Given the description of an element on the screen output the (x, y) to click on. 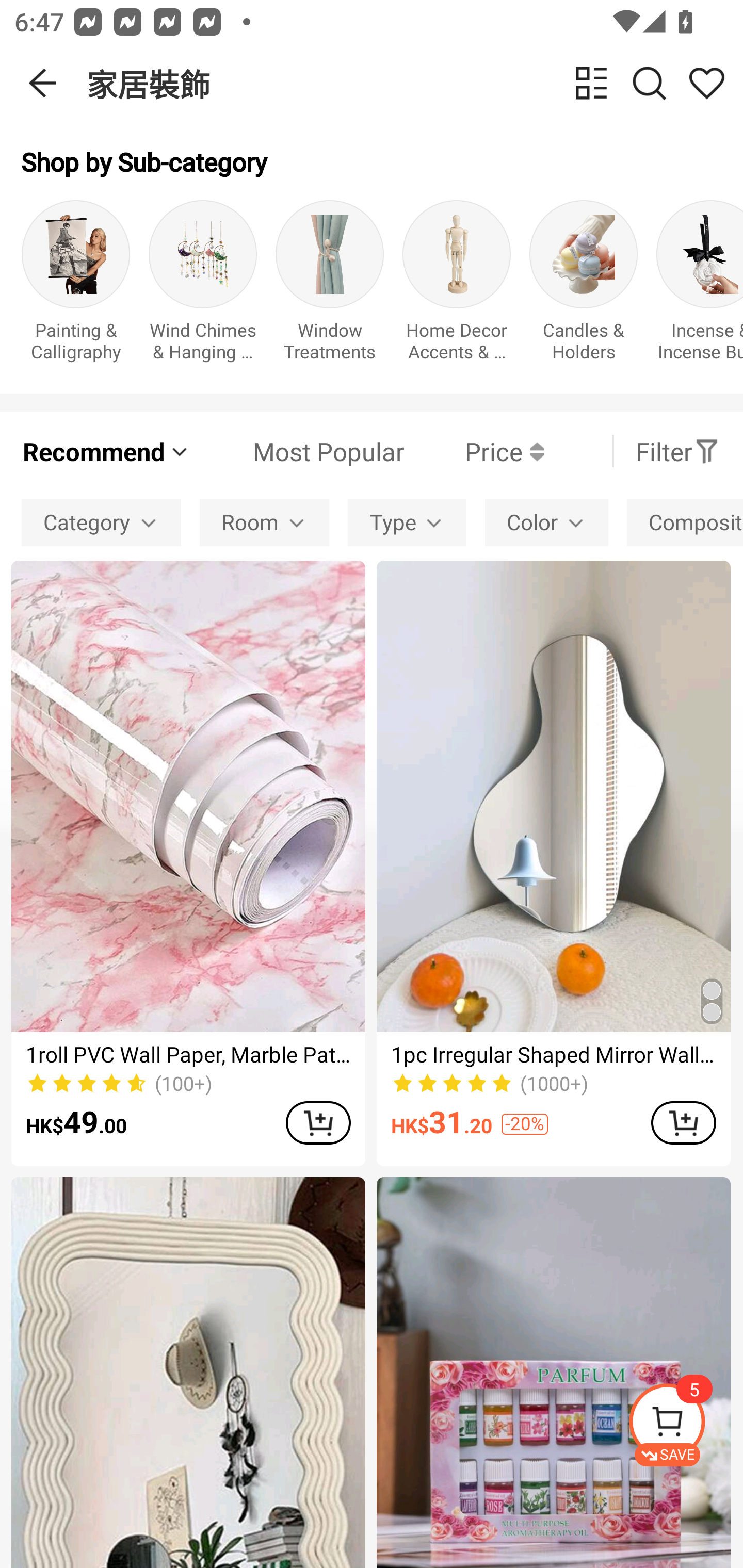
家居裝飾 change view Search Share (414, 82)
change view (591, 82)
Search (648, 82)
Share (706, 82)
Painting & Calligraphy (75, 285)
Wind Chimes & Hanging Decorations (202, 285)
Window Treatments (329, 285)
Home Decor Accents & Accessories (456, 285)
Candles & Holders (583, 285)
Incense & Incense Burners (699, 285)
Recommend (106, 450)
Most Popular (297, 450)
Price (474, 450)
Filter (677, 450)
Category (101, 521)
Room (264, 521)
Type (406, 521)
Color (546, 521)
Composition (685, 521)
ADD TO CART (318, 1122)
ADD TO CART (683, 1122)
SAVE (685, 1424)
